Given the description of an element on the screen output the (x, y) to click on. 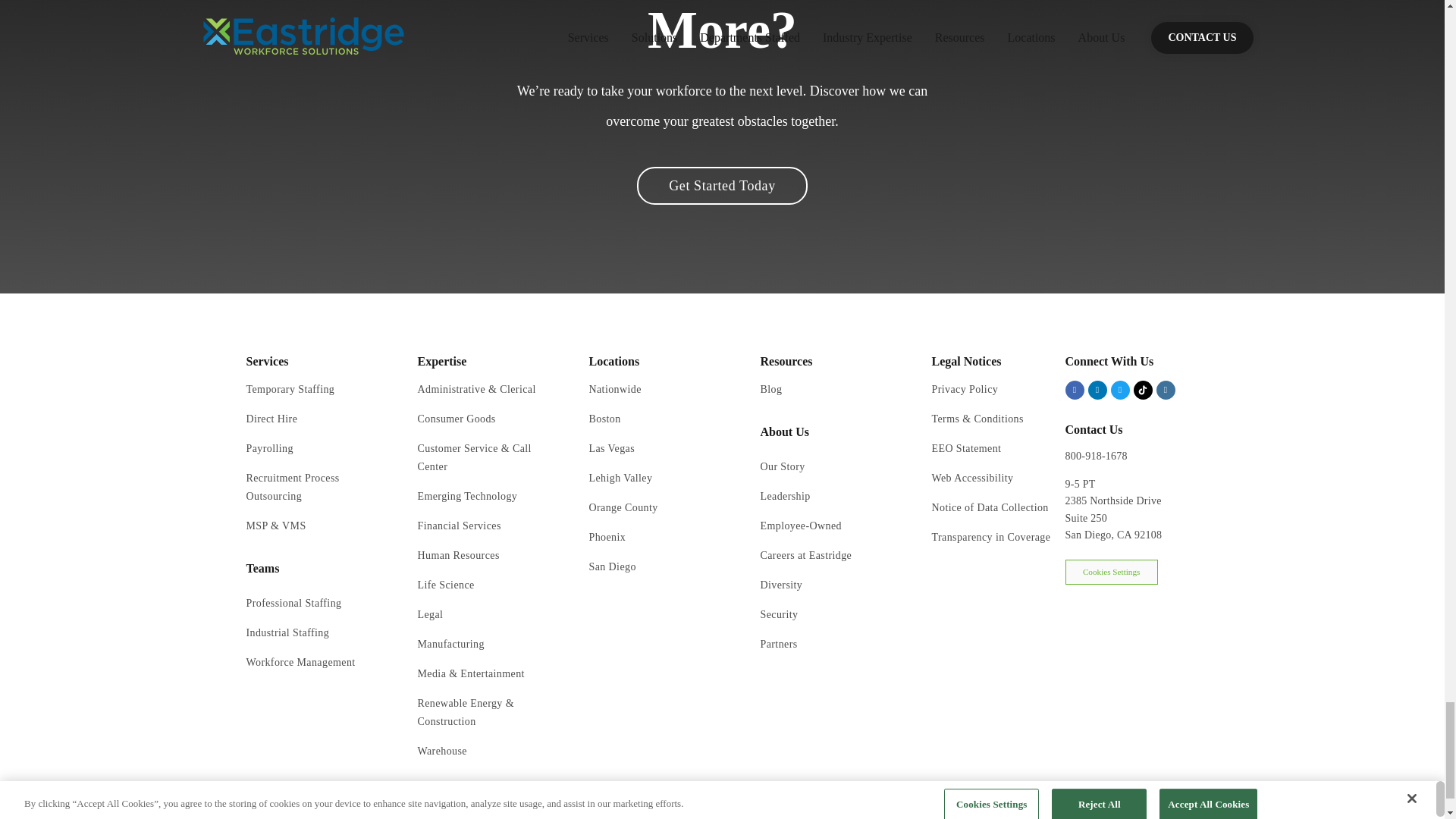
Get Started Today (722, 185)
